Given the description of an element on the screen output the (x, y) to click on. 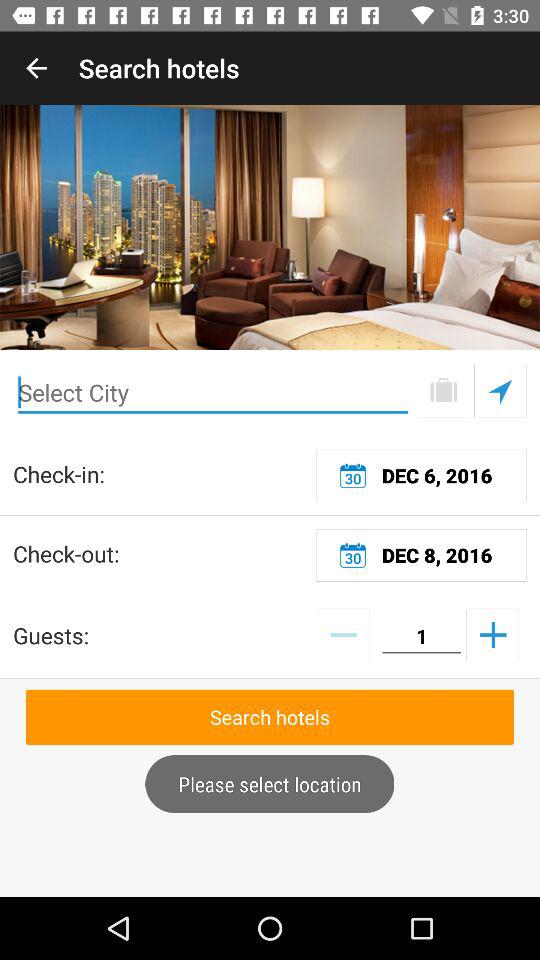
increase number (492, 634)
